Given the description of an element on the screen output the (x, y) to click on. 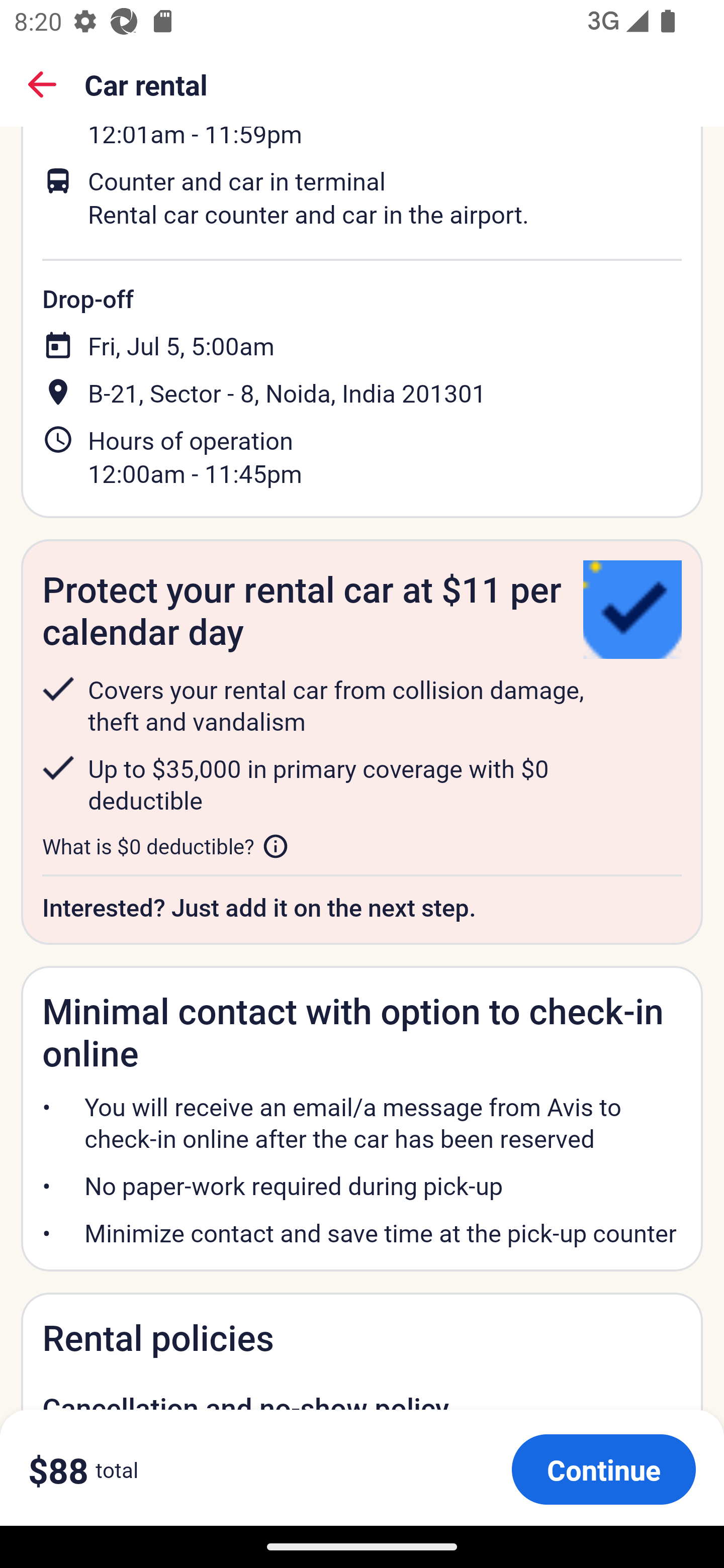
Go back to car rental search results (42, 84)
What is $0 deductible? (165, 846)
Continue (603, 1468)
